Given the description of an element on the screen output the (x, y) to click on. 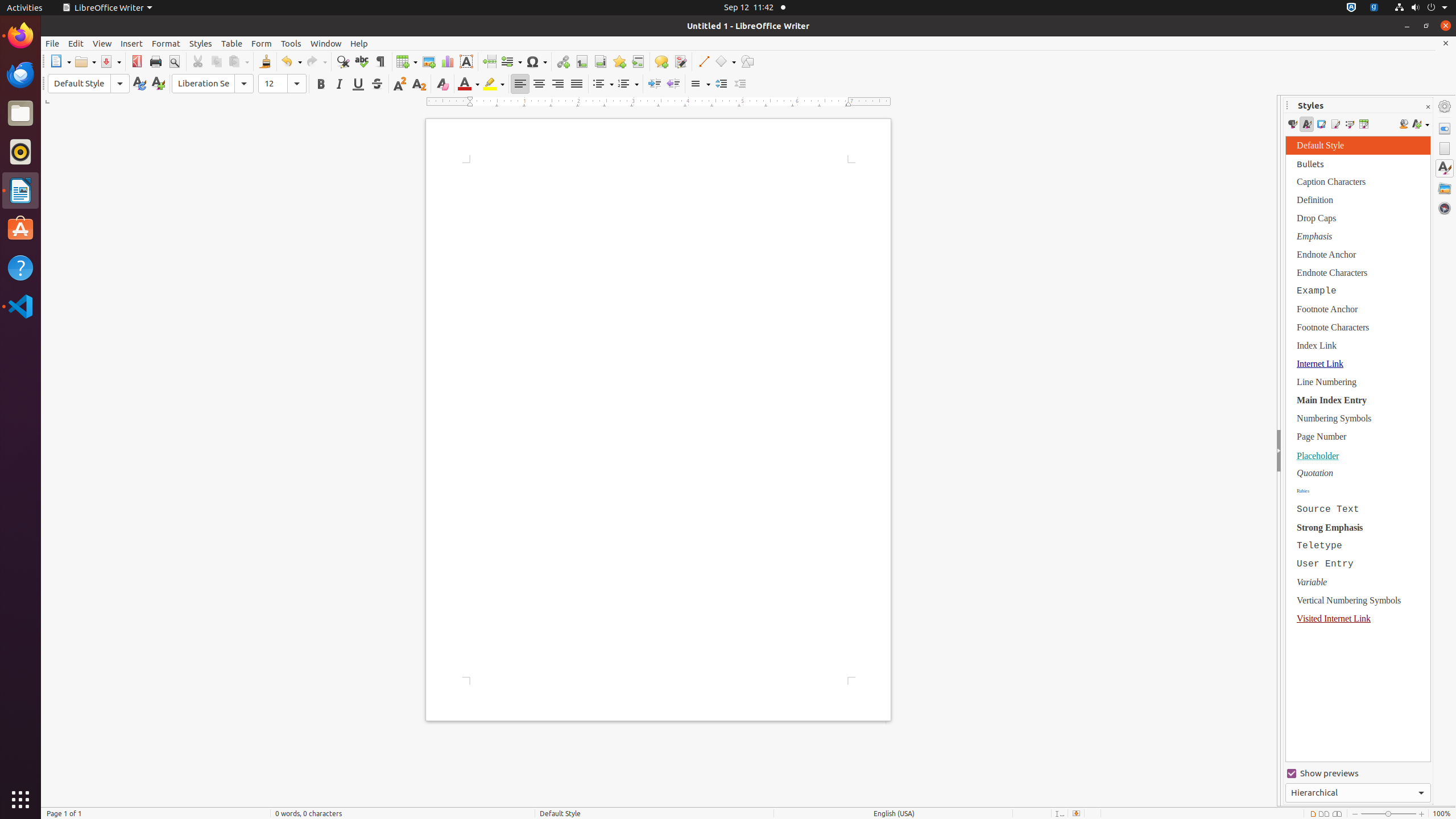
Underline Element type: push-button (357, 83)
Subscript Element type: toggle-button (418, 83)
Page Break Element type: push-button (489, 61)
Window Element type: menu (325, 43)
Track Changes Functions Element type: toggle-button (679, 61)
